Given the description of an element on the screen output the (x, y) to click on. 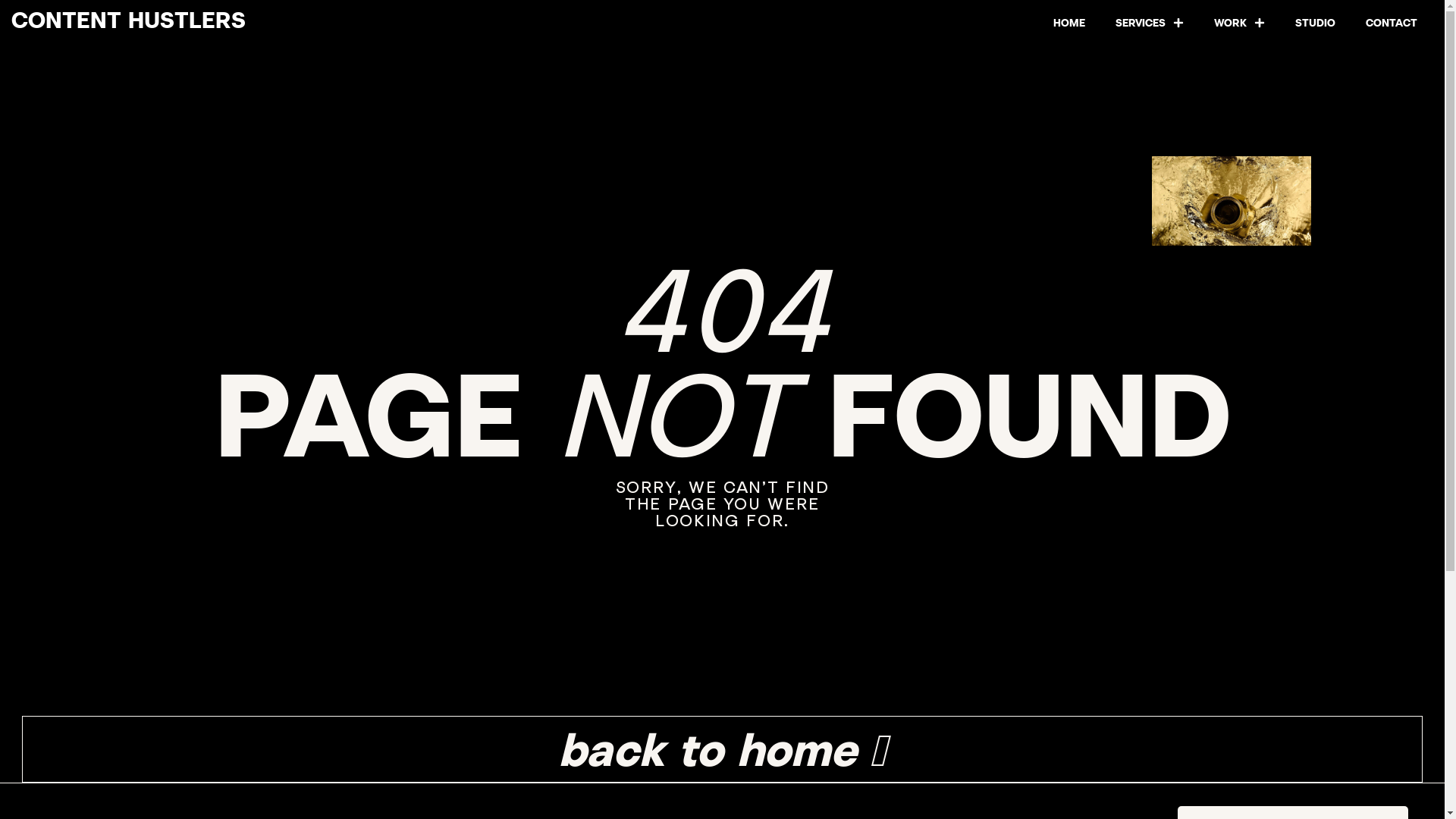
HOME Element type: text (1069, 22)
STUDIO Element type: text (1315, 22)
SERVICES Element type: text (1149, 22)
CONTACT Element type: text (1391, 22)
WORK Element type: text (1239, 22)
CONTENT HUSTLERS Element type: text (128, 19)
